Given the description of an element on the screen output the (x, y) to click on. 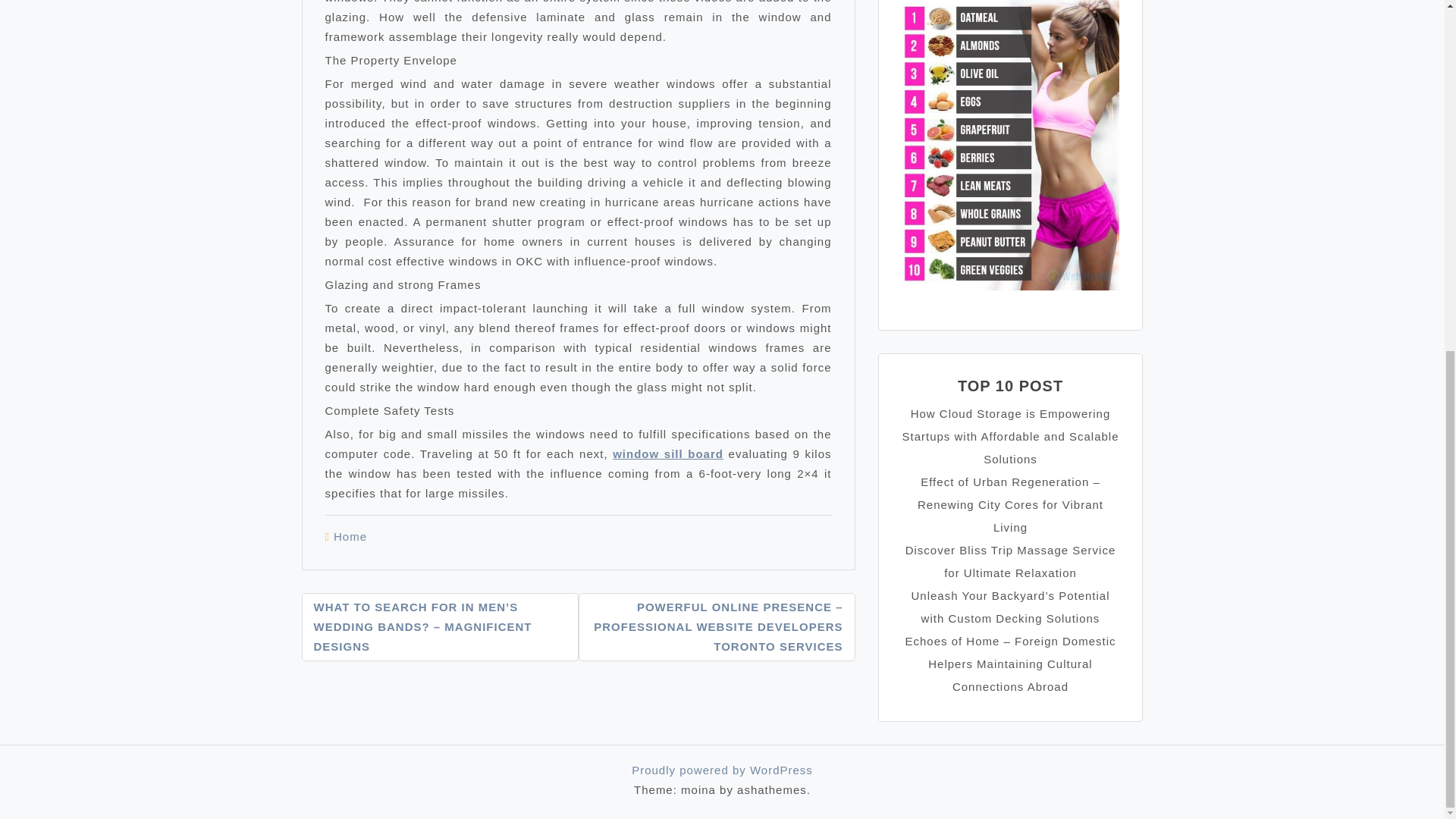
window sill board (667, 452)
Home (349, 535)
Discover Bliss Trip Massage Service for Ultimate Relaxation (1010, 561)
Proudly powered by WordPress (721, 769)
